Given the description of an element on the screen output the (x, y) to click on. 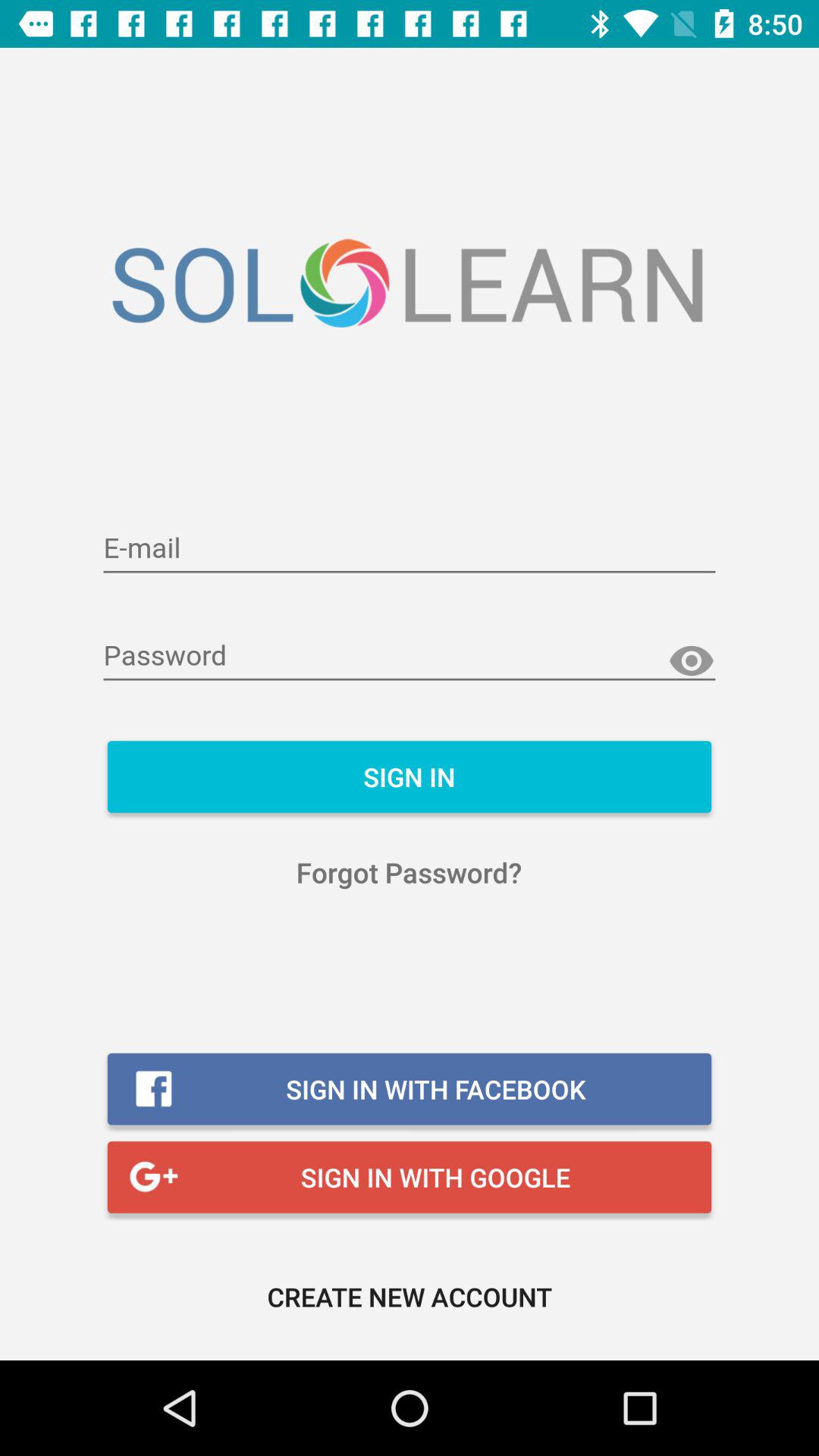
click the item below the sign in item (409, 872)
